Given the description of an element on the screen output the (x, y) to click on. 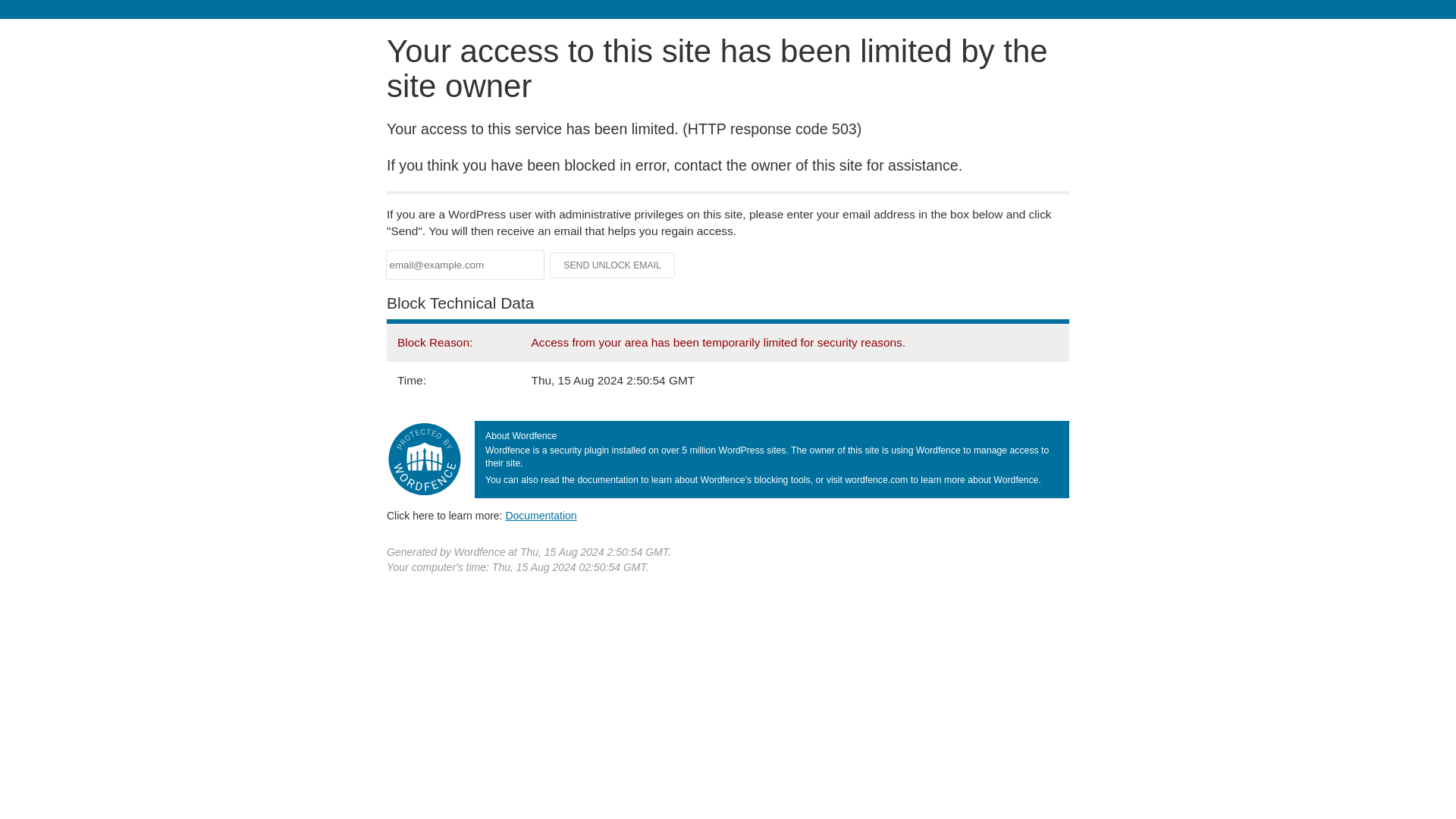
Documentation (540, 515)
Send Unlock Email (612, 265)
Send Unlock Email (612, 265)
